Given the description of an element on the screen output the (x, y) to click on. 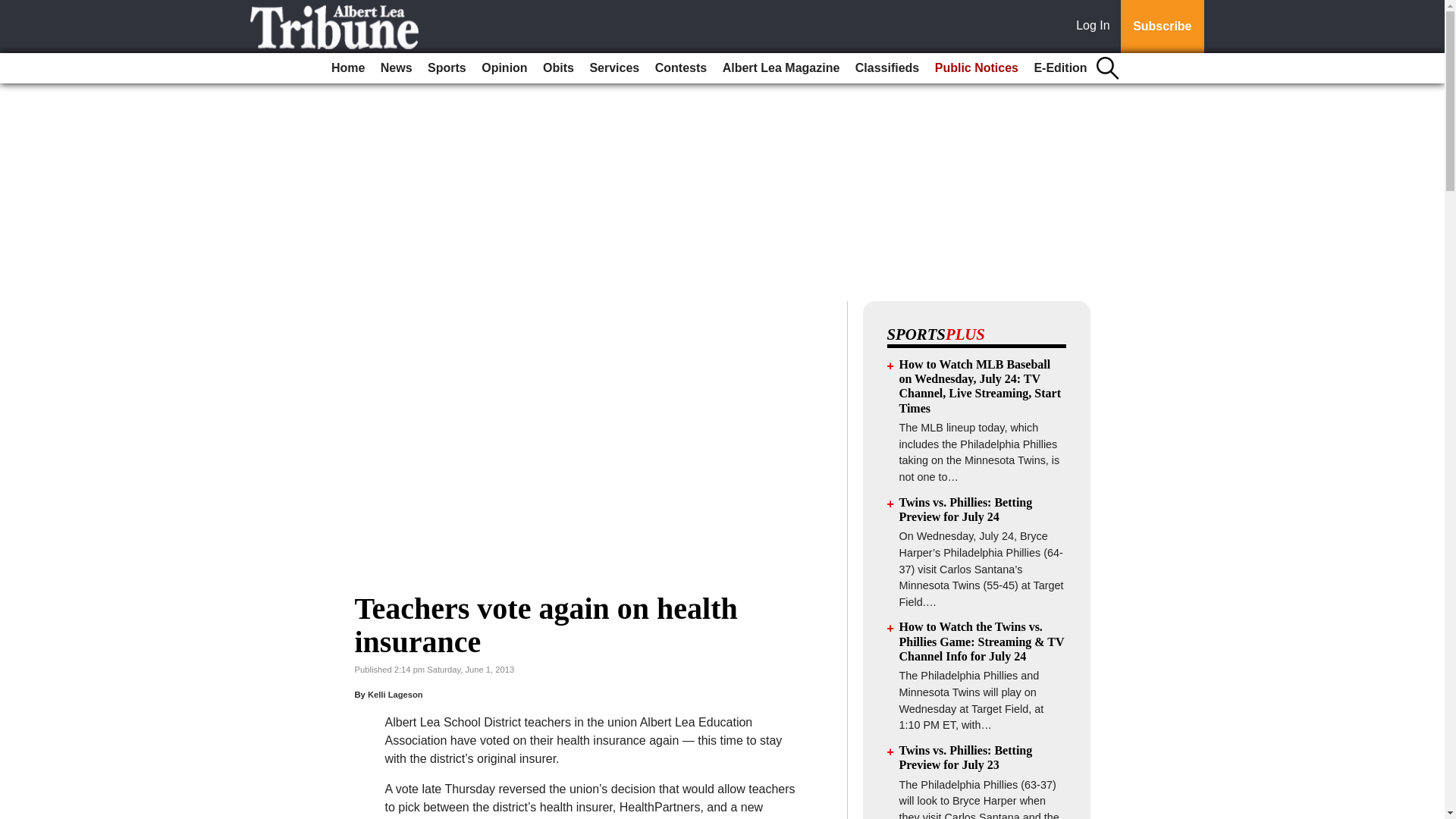
Subscribe (1162, 26)
Opinion (504, 68)
Sports (446, 68)
Log In (1095, 26)
Services (614, 68)
Obits (558, 68)
Home (347, 68)
News (396, 68)
